Given the description of an element on the screen output the (x, y) to click on. 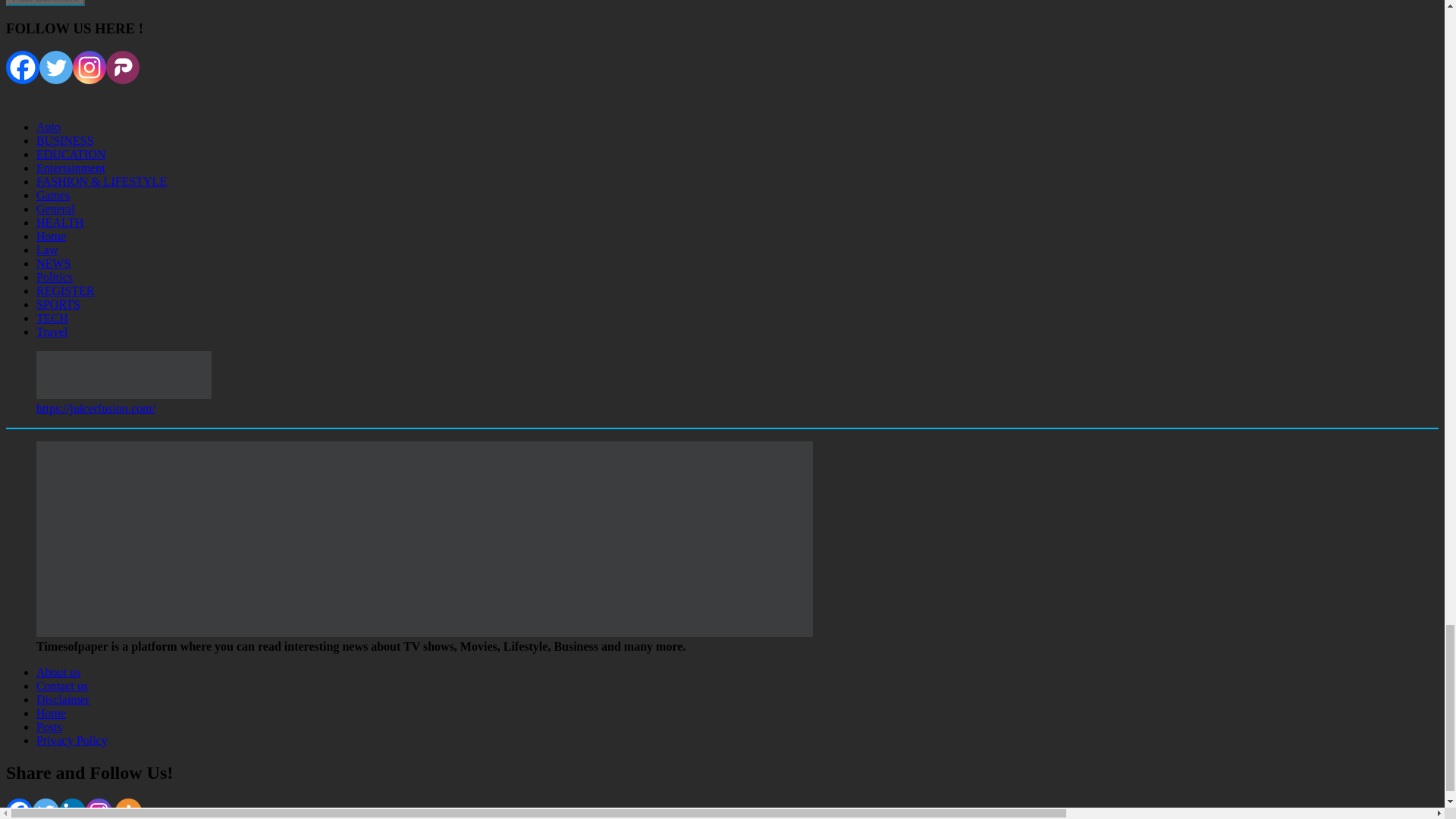
Twitter (55, 67)
Post Comment (44, 2)
Facebook (22, 67)
Parler (122, 67)
Instagram (89, 67)
